Given the description of an element on the screen output the (x, y) to click on. 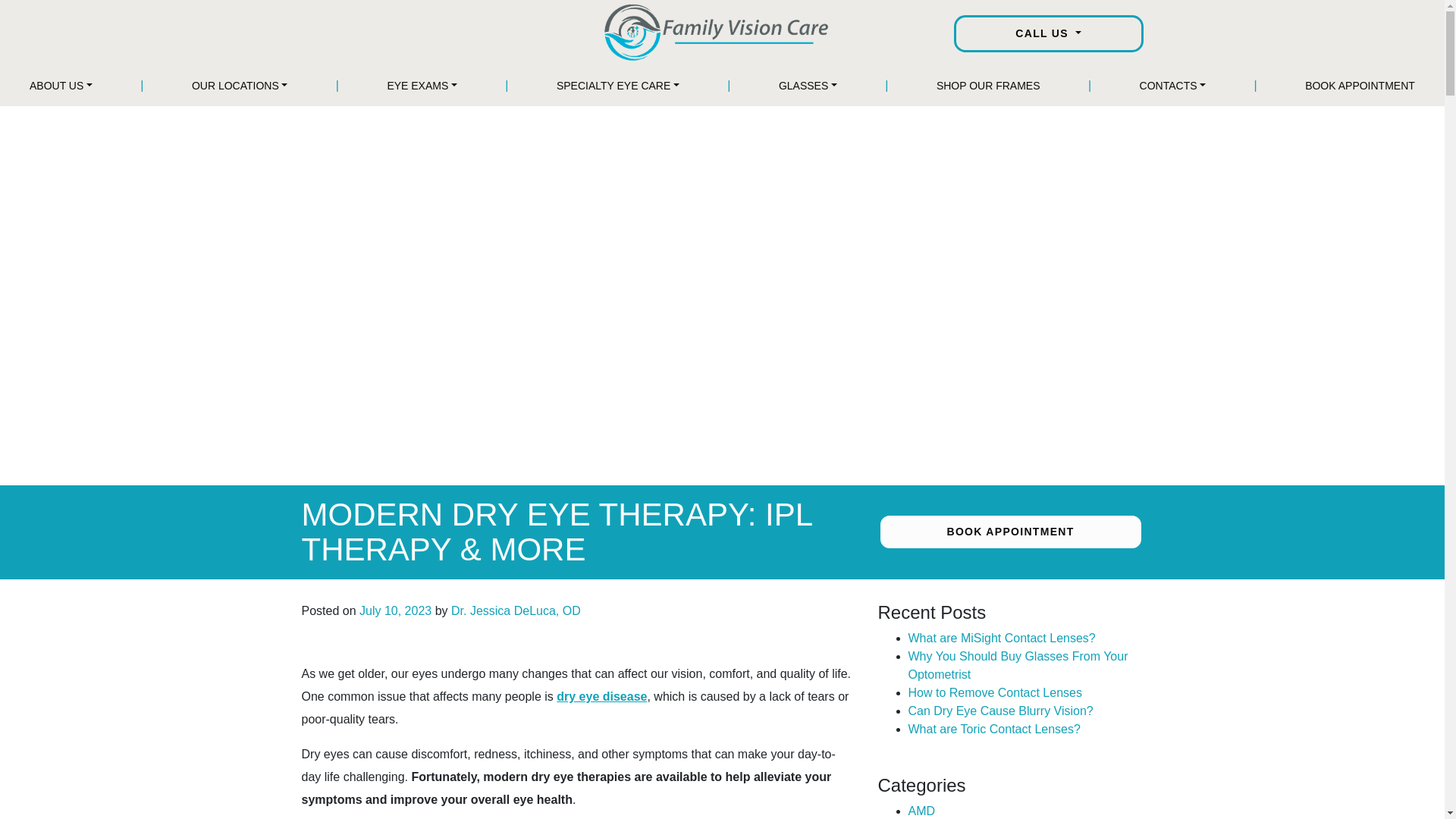
Our Locations (240, 85)
CONTACTS (1173, 85)
Specialty Eye Care (617, 85)
OUR LOCATIONS (240, 85)
CALL US (1047, 33)
SPECIALTY EYE CARE (617, 85)
EYE EXAMS (421, 85)
Eye Exams (421, 85)
SHOP OUR FRAMES (988, 85)
GLASSES (808, 85)
